Given the description of an element on the screen output the (x, y) to click on. 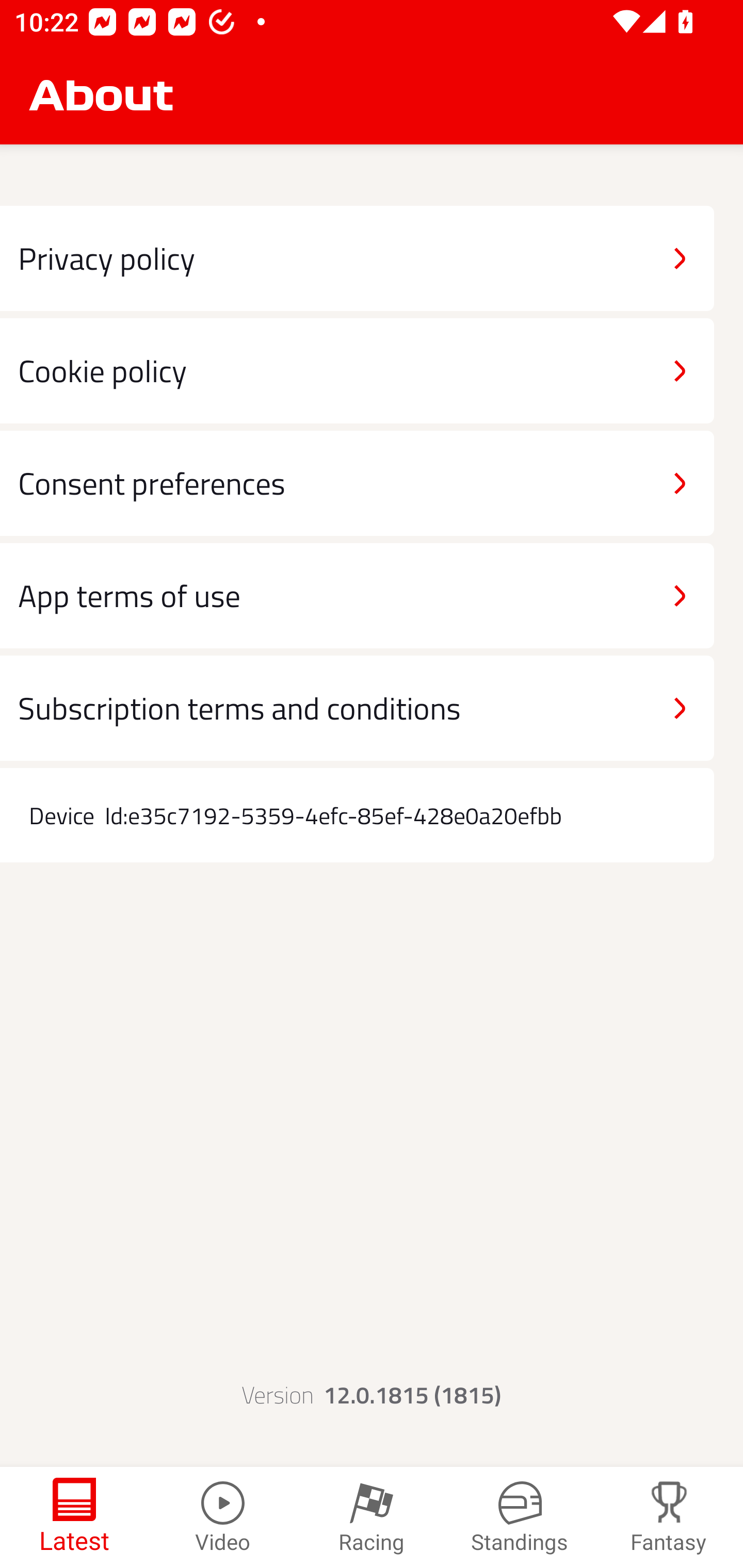
Privacy policy (357, 257)
Cookie policy (357, 370)
Consent preferences (357, 483)
App terms of use (357, 594)
Subscription terms and conditions (357, 707)
Device  Id:e35c7192-5359-4efc-85ef-428e0a20efbb (357, 815)
Video (222, 1517)
Racing (371, 1517)
Standings (519, 1517)
Fantasy (668, 1517)
